Given the description of an element on the screen output the (x, y) to click on. 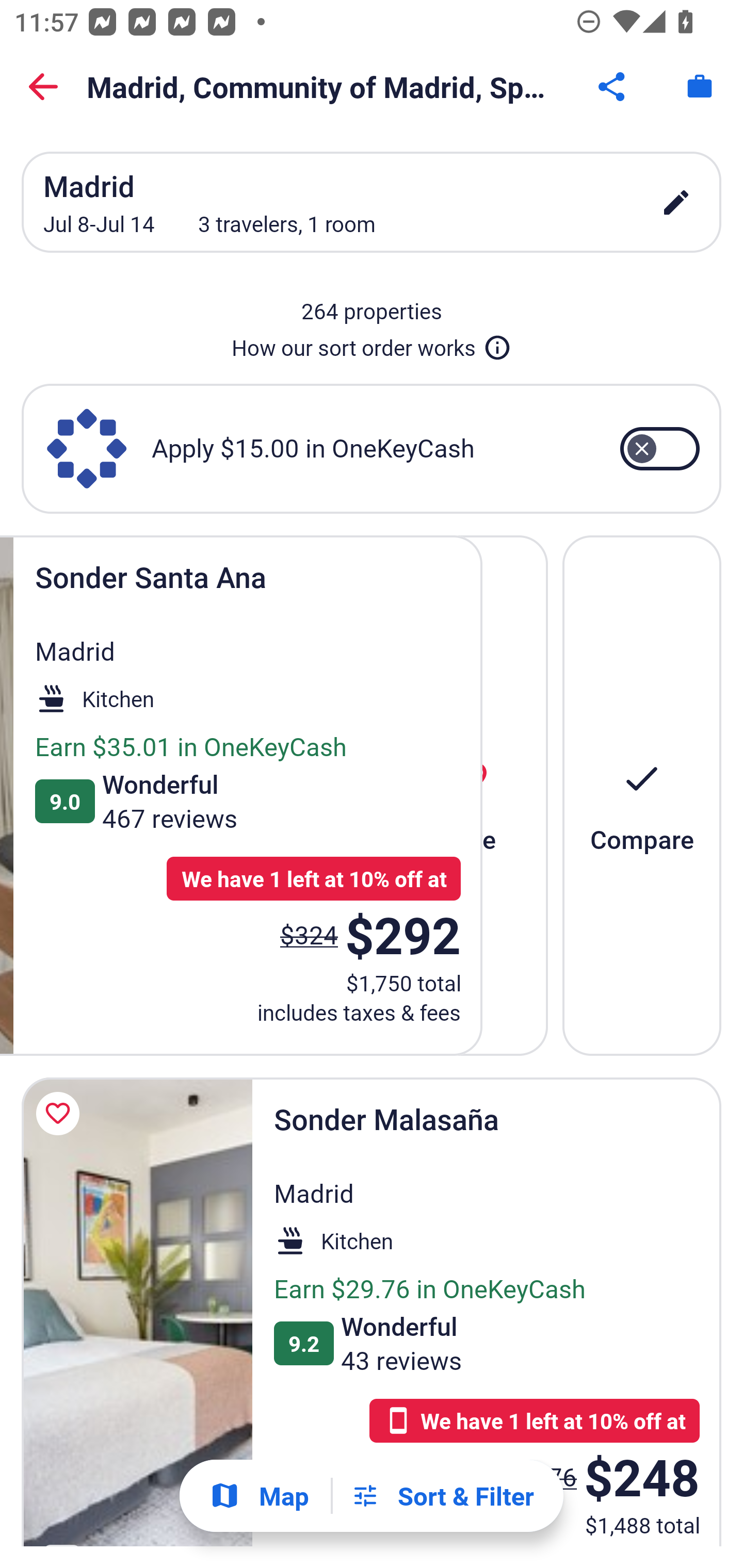
Back (43, 86)
Share Button (612, 86)
Trips. Button (699, 86)
Madrid Jul 8-Jul 14 3 travelers, 1 room edit (371, 202)
How our sort order works (371, 344)
Compare (641, 794)
$324 The price was $324 (312, 934)
Save Sonder Malasaña to a trip (61, 1113)
Sonder Malasaña (136, 1311)
Filters Sort & Filter Filters Button (442, 1495)
Show map Map Show map Button (258, 1495)
